Given the description of an element on the screen output the (x, y) to click on. 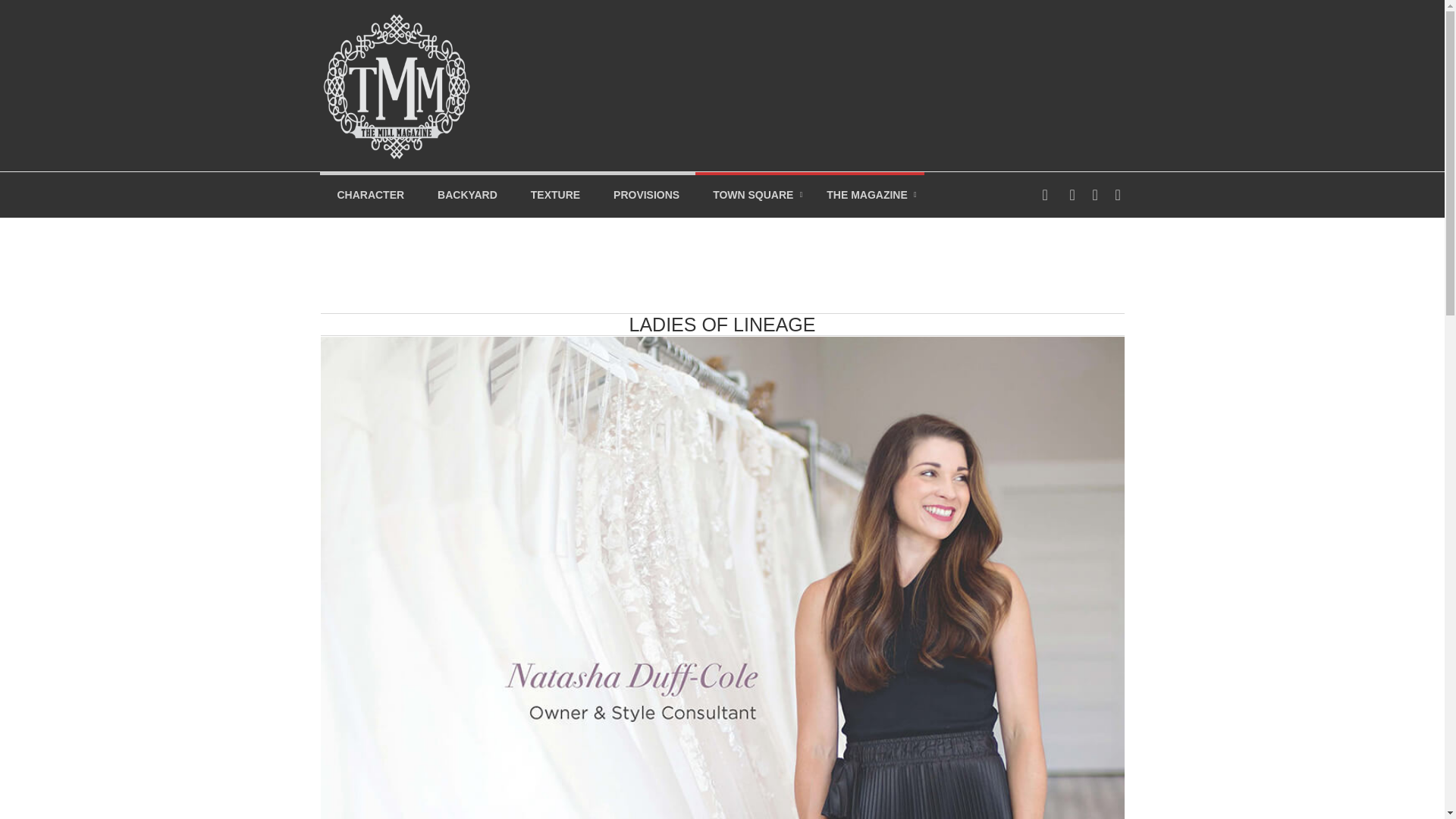
TEXTURE (554, 194)
TOWN SQUARE (752, 194)
CHARACTER (370, 194)
BACKYARD (466, 194)
PROVISIONS (645, 194)
THE MAGAZINE (866, 194)
